Given the description of an element on the screen output the (x, y) to click on. 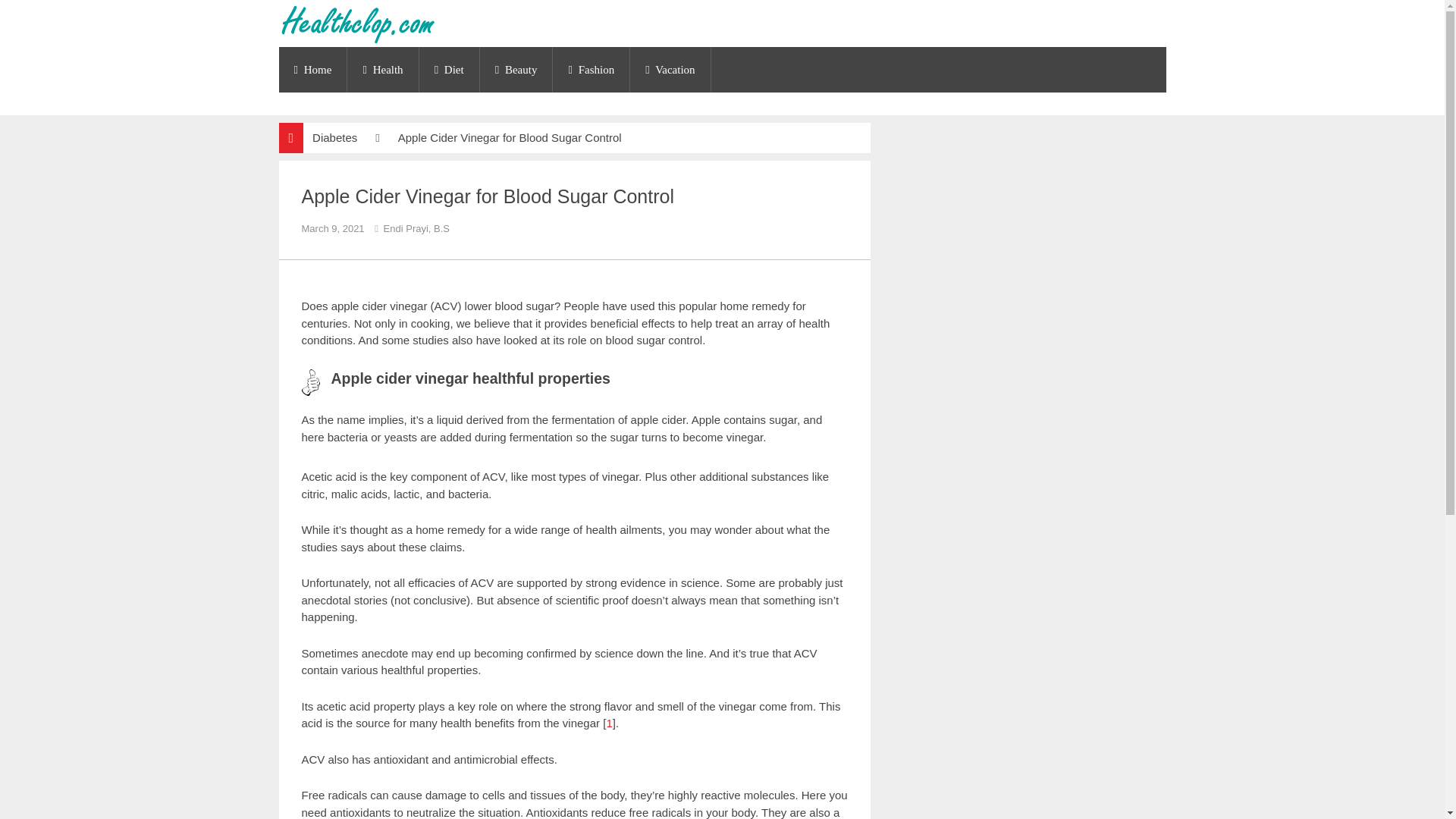
Health (382, 69)
Endi Prayi, B.S (416, 228)
Posts by Endi Prayi, B.S (416, 228)
Diet (449, 69)
Beauty (516, 69)
Vacation (670, 69)
Diabetes (334, 137)
Home (313, 69)
Fashion (590, 69)
